Given the description of an element on the screen output the (x, y) to click on. 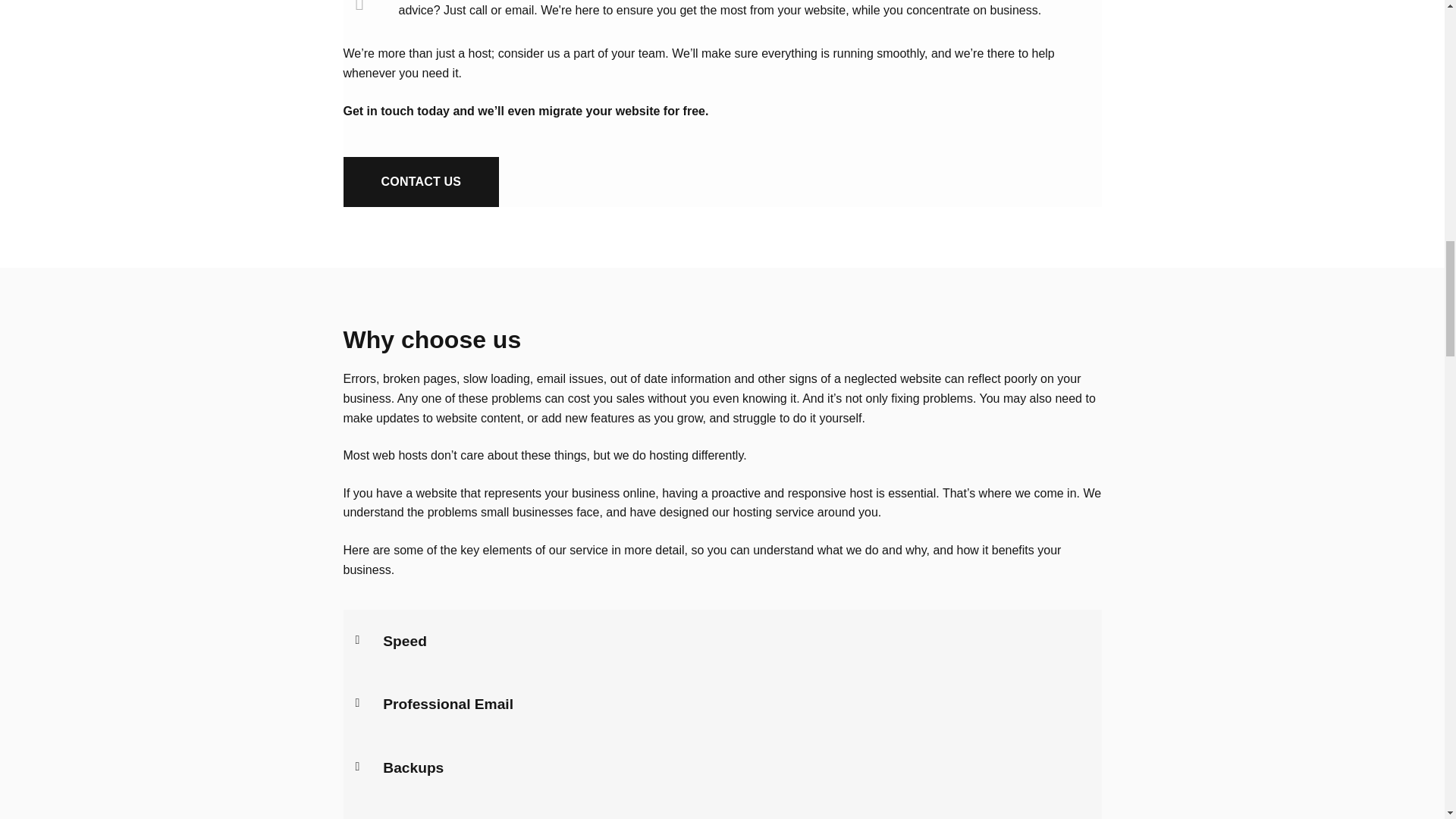
Speed (404, 641)
Backups (413, 767)
Professional Email (447, 703)
CONTACT US (420, 182)
